Given the description of an element on the screen output the (x, y) to click on. 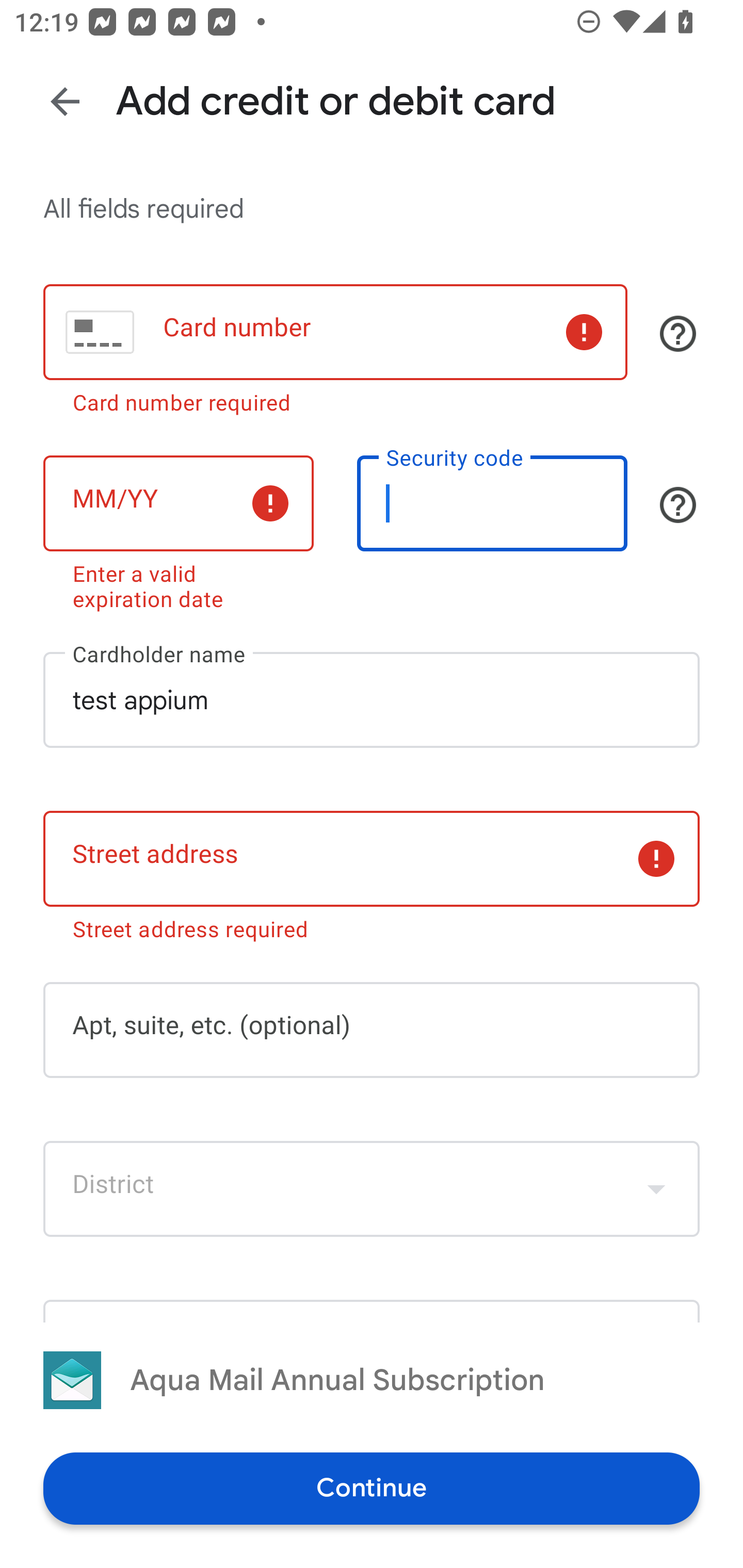
Back (64, 101)
Card number (335, 331)
Button, shows cards that are accepted for payment (677, 333)
Expiration date, 2 digit month, 2 digit year (178, 502)
Security code (492, 502)
Security code help (677, 504)
test appium (371, 699)
Street address (371, 858)
Apt, suite, etc. (optional) (371, 1029)
District (371, 1189)
Show dropdown menu (655, 1189)
Continue (371, 1487)
